Given the description of an element on the screen output the (x, y) to click on. 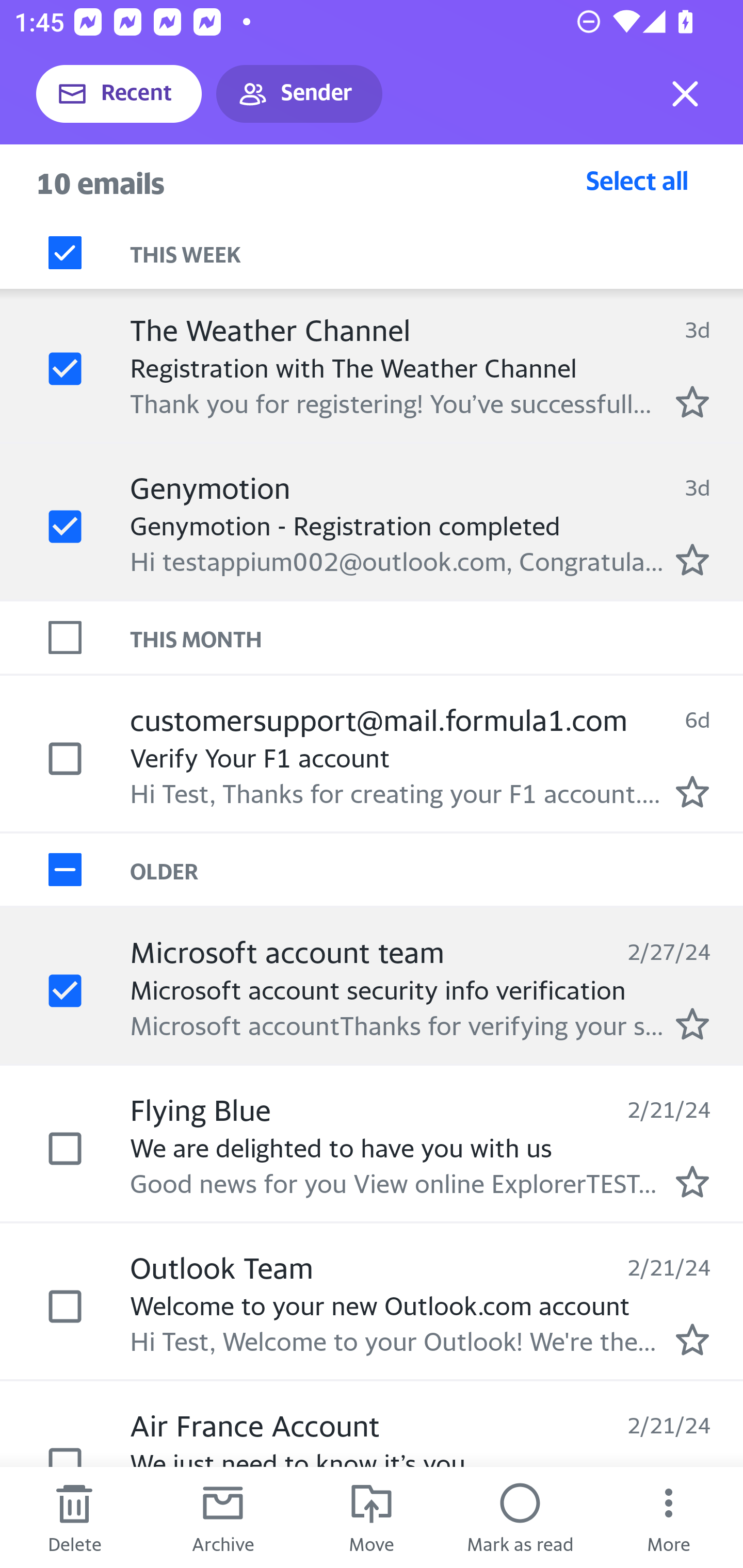
Sender (299, 93)
Exit selection mode (684, 93)
Select all (637, 180)
Mark as starred. (692, 402)
Mark as starred. (692, 558)
THIS MONTH (436, 637)
Mark as starred. (692, 791)
OLDER (436, 869)
Mark as starred. (692, 1023)
Mark as starred. (692, 1181)
Mark as starred. (692, 1339)
Delete (74, 1517)
Archive (222, 1517)
Move (371, 1517)
Mark as read (519, 1517)
More (668, 1517)
